Given the description of an element on the screen output the (x, y) to click on. 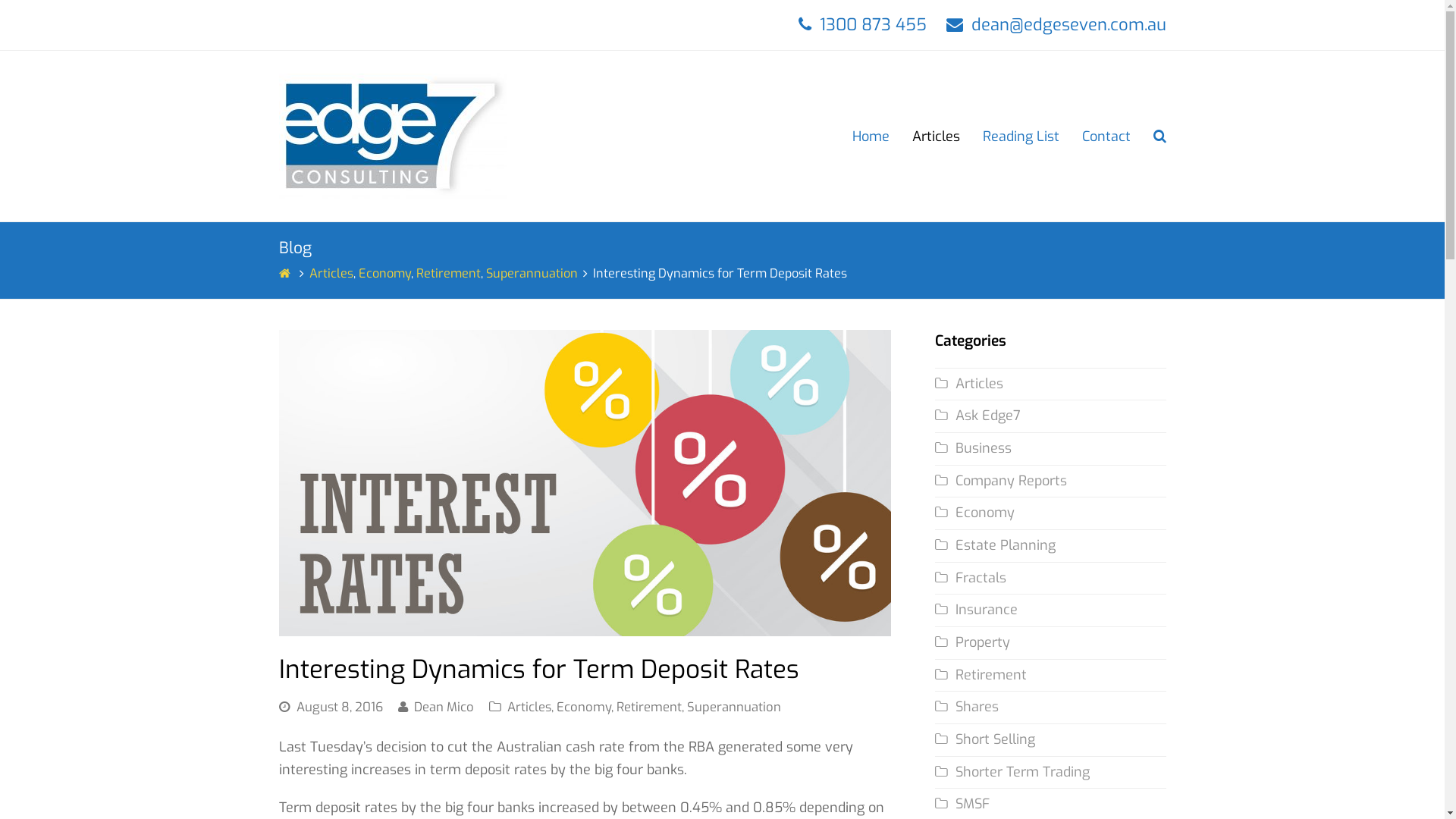
Dean Mico Element type: text (443, 706)
Economy Element type: text (974, 512)
Contact Element type: text (1106, 136)
Retirement Element type: text (980, 674)
dean@edgeseven.com.au Element type: text (1067, 24)
Shorter Term Trading Element type: text (1012, 771)
Business Element type: text (973, 448)
Insurance Element type: text (976, 609)
Shares Element type: text (966, 706)
Company Reports Element type: text (1000, 480)
Ask Edge7 Element type: text (977, 415)
Reading List Element type: text (1020, 136)
Edge 7 Element type: hover (392, 135)
Property Element type: text (972, 642)
Home Element type: text (870, 136)
Economy Element type: text (583, 706)
Economy Element type: text (383, 273)
Articles Element type: text (969, 383)
Articles Element type: text (935, 136)
SMSF Element type: text (962, 803)
Articles Element type: text (528, 706)
Retirement Element type: text (447, 273)
Edge 7 Element type: hover (286, 273)
Superannuation Element type: text (531, 273)
Retirement Element type: text (647, 706)
Articles Element type: text (331, 273)
Fractals Element type: text (970, 577)
1300 873 455 Element type: text (872, 24)
Estate Planning Element type: text (995, 545)
Short Selling Element type: text (985, 739)
Superannuation Element type: text (734, 706)
